Given the description of an element on the screen output the (x, y) to click on. 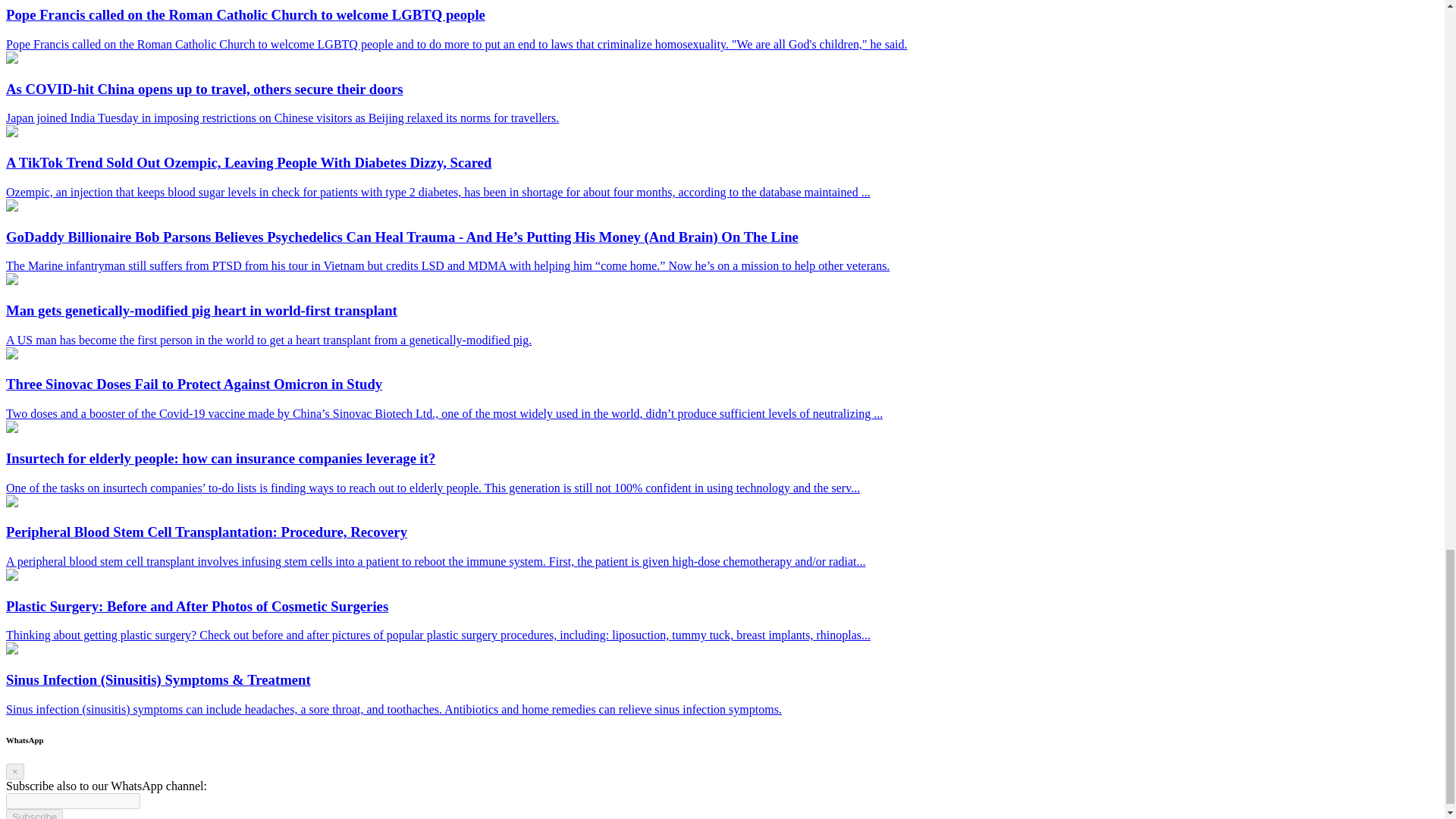
Three Sinovac Doses Fail to Protect Against Omicron in Study (11, 354)
